Given the description of an element on the screen output the (x, y) to click on. 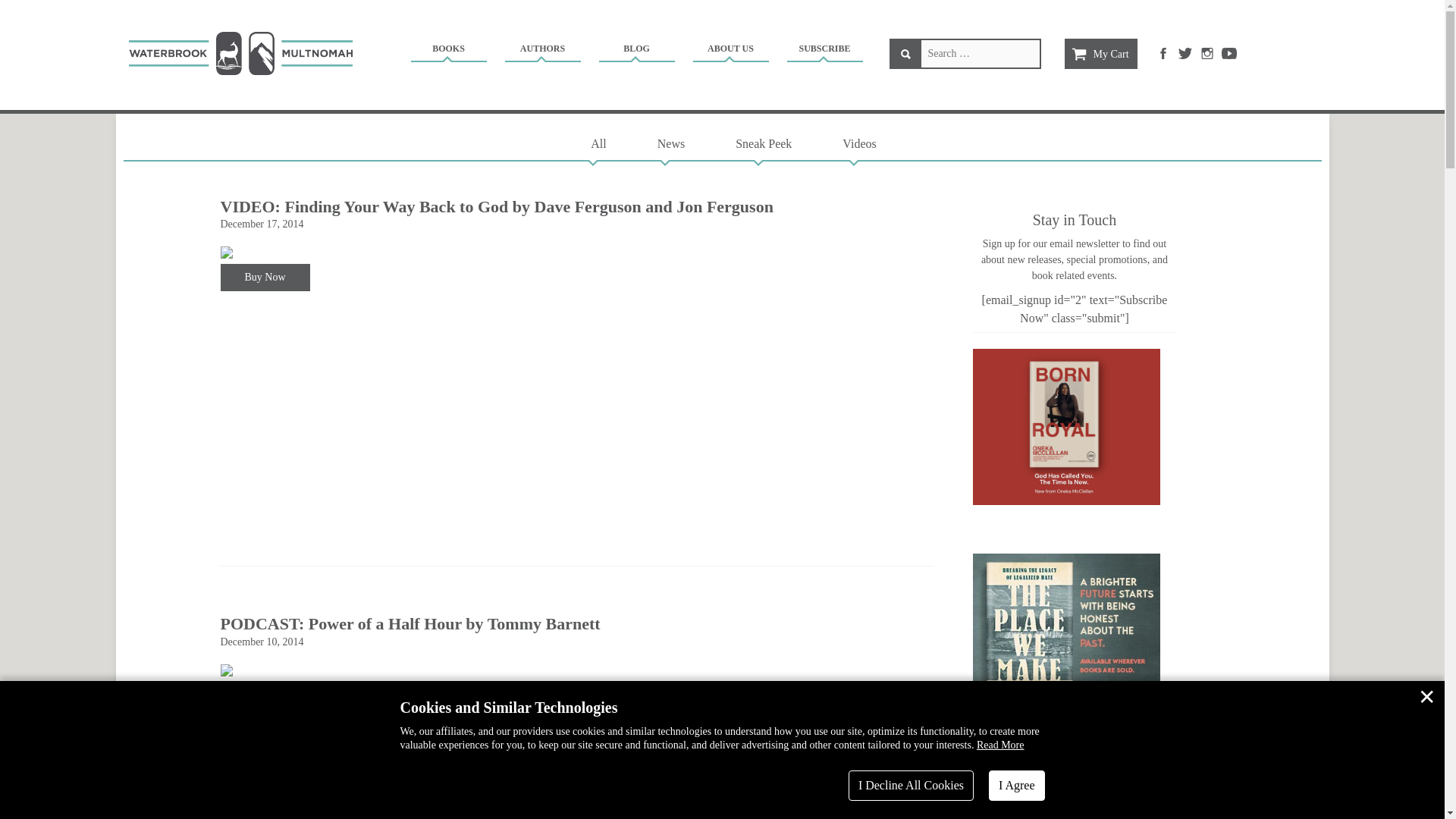
BLOG (636, 50)
Videos (858, 143)
Play (242, 767)
AUTHORS (542, 50)
Buy Now (263, 277)
BOOKS (448, 50)
ABOUT US (730, 50)
SUBSCRIBE (824, 50)
Sneak Peek (763, 143)
Search (904, 53)
Search (904, 53)
My Cart (1100, 53)
Mute (479, 746)
News (671, 143)
Search (904, 53)
